Given the description of an element on the screen output the (x, y) to click on. 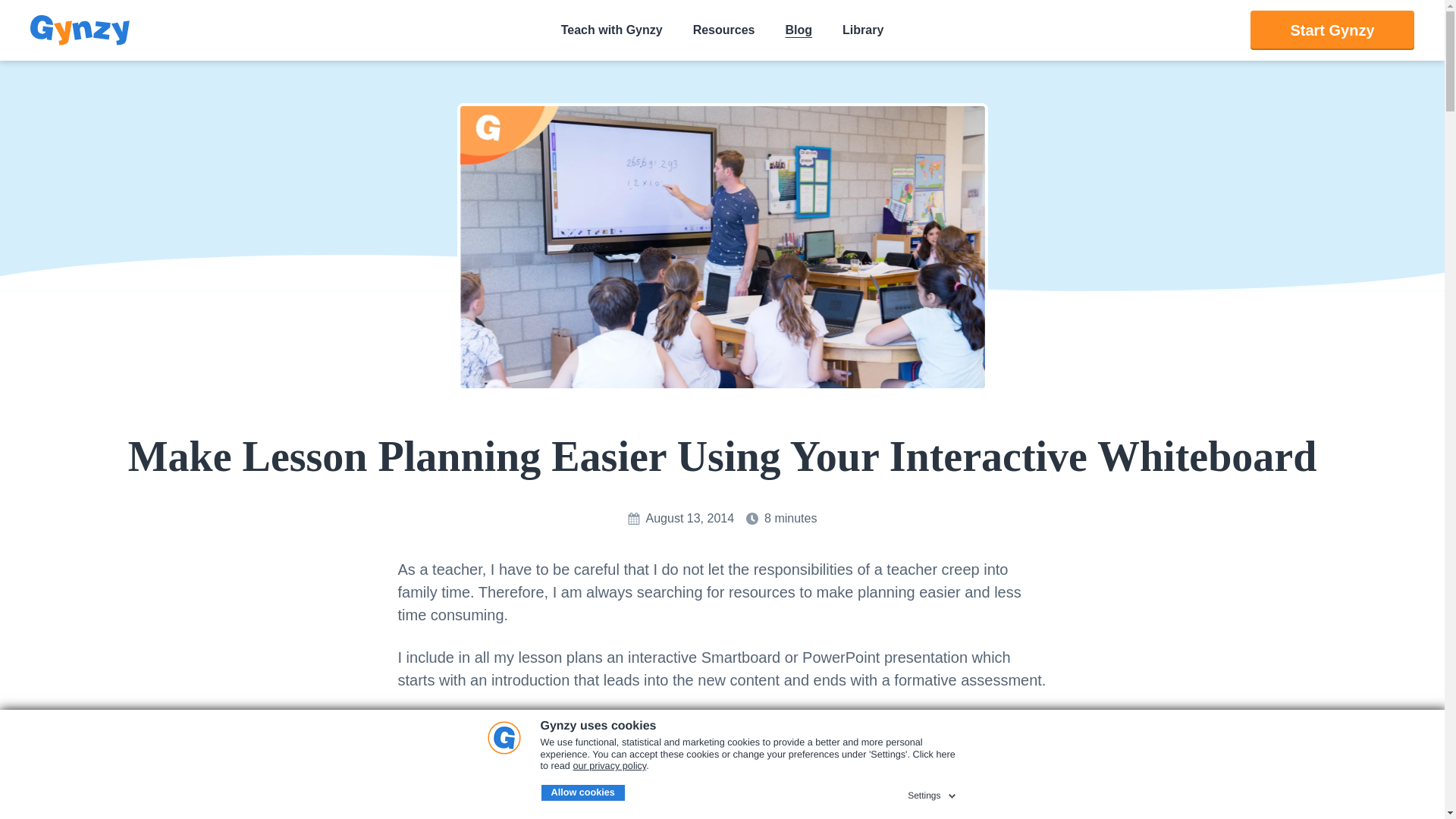
Settings (932, 792)
Allow cookies (582, 792)
our privacy policy (609, 765)
